Given the description of an element on the screen output the (x, y) to click on. 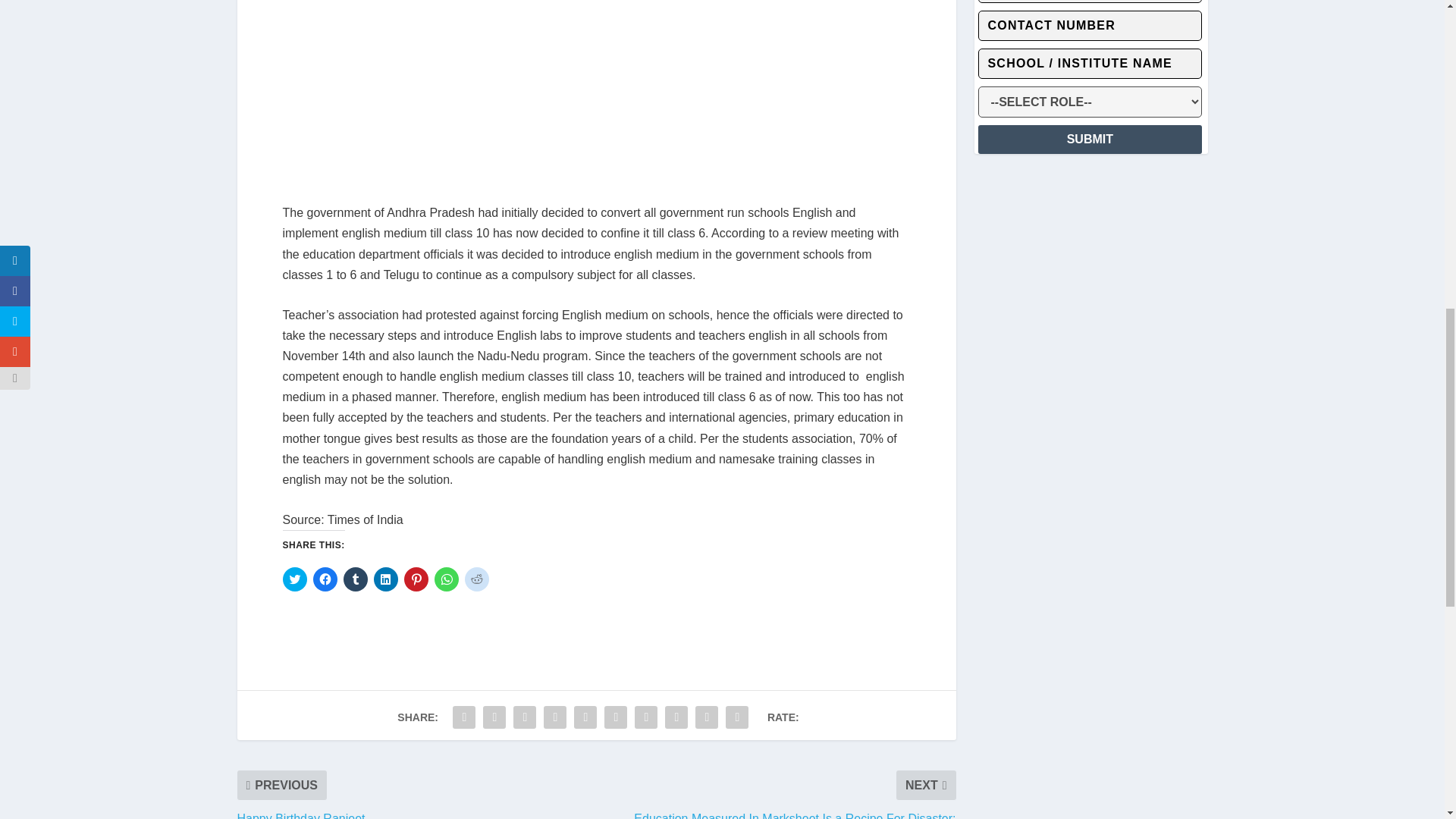
Submit (1090, 139)
Click to share on Twitter (293, 579)
Click to share on Tumblr (354, 579)
Click to share on Facebook (324, 579)
Click to share on LinkedIn (384, 579)
Click to share on WhatsApp (445, 579)
Click to share on Pinterest (415, 579)
